Given the description of an element on the screen output the (x, y) to click on. 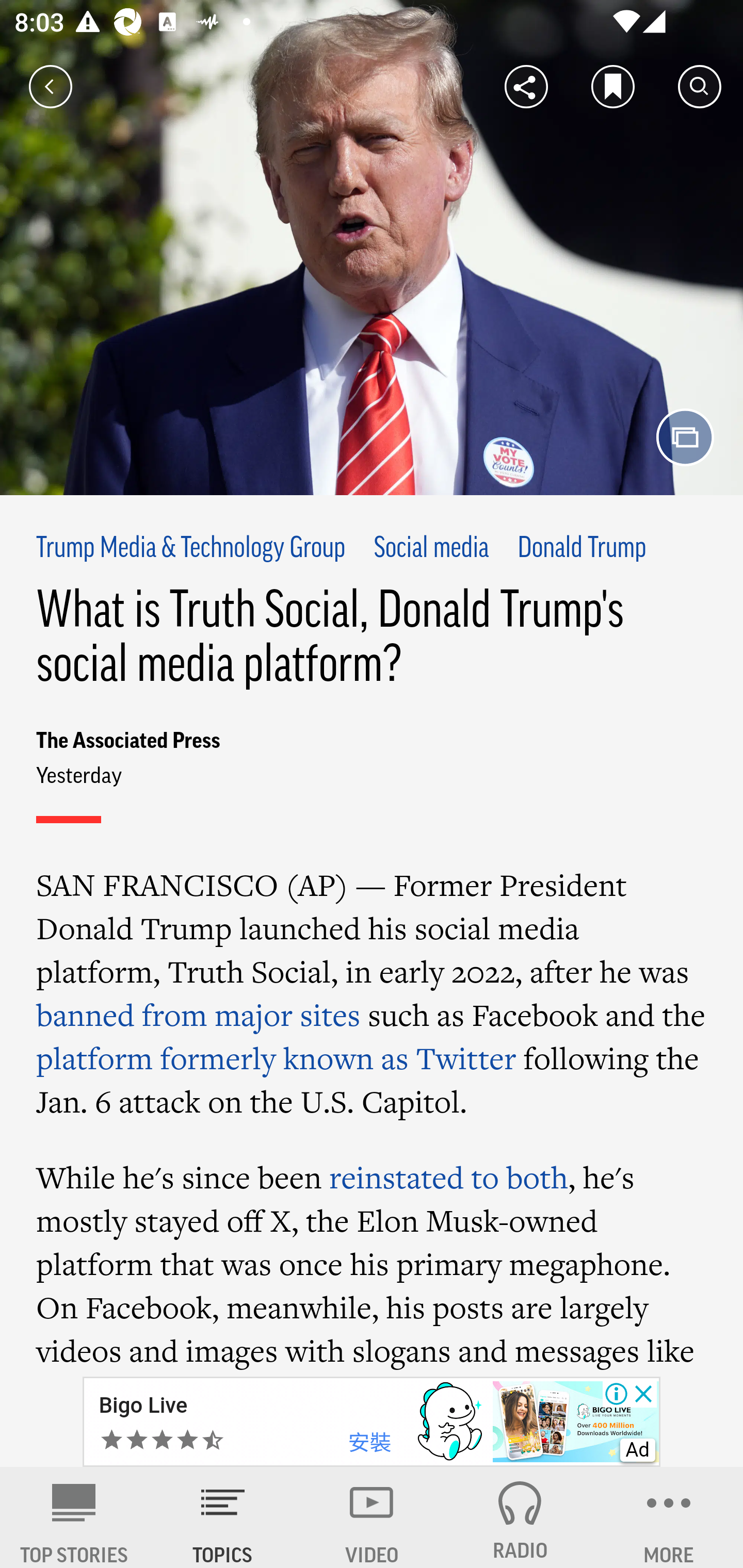
Trump Media & Technology Group (191, 549)
Social media (430, 549)
Donald Trump (581, 549)
banned from major sites (198, 1015)
platform formerly known as Twitter (276, 1058)
reinstated to both (448, 1177)
Mox Bank (146, 1405)
Bigo Live (142, 1405)
安裝 (369, 1443)
AP News TOP STORIES (74, 1517)
TOPICS (222, 1517)
VIDEO (371, 1517)
RADIO (519, 1517)
MORE (668, 1517)
